Given the description of an element on the screen output the (x, y) to click on. 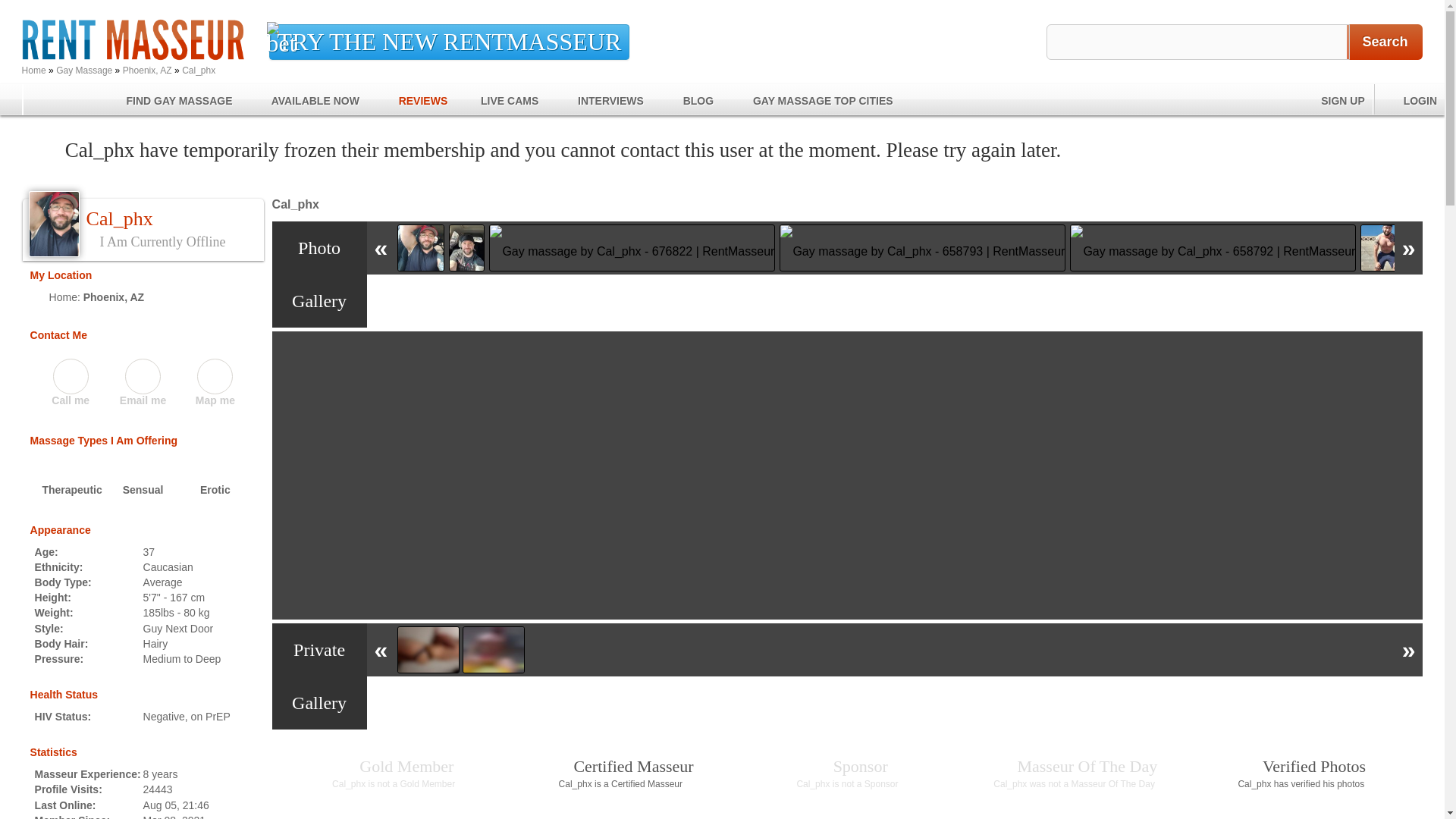
SIGN UP (1332, 99)
REVIEWS (411, 99)
Gay masseurs in Phoenix, AZ (113, 297)
BLOG (687, 99)
I Am Offering Sensual Massage (143, 480)
FIND GAY MASSAGE (168, 99)
LOGIN (1409, 99)
LIVE CAMS (499, 99)
Phoenix, AZ (146, 70)
Home (33, 70)
